Given the description of an element on the screen output the (x, y) to click on. 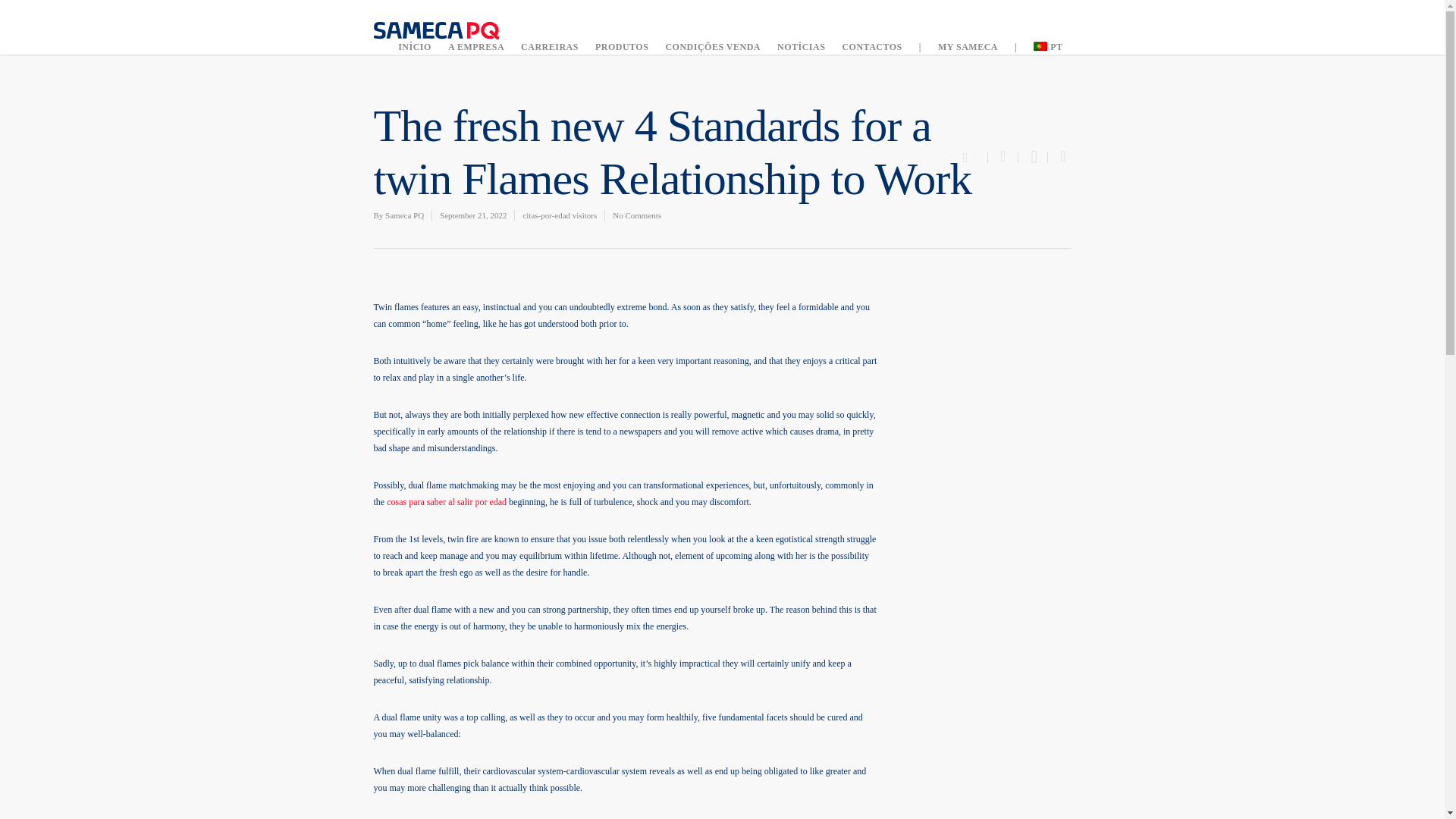
MY SAMECA (968, 46)
Tweet this (1032, 157)
PRODUTOS (622, 46)
Share this (1059, 157)
Share this (1002, 157)
PT (1048, 46)
cosas para saber al salir por edad (446, 501)
citas-por-edad visitors (559, 215)
Love this (974, 155)
Posts by Sameca PQ (404, 215)
